Given the description of an element on the screen output the (x, y) to click on. 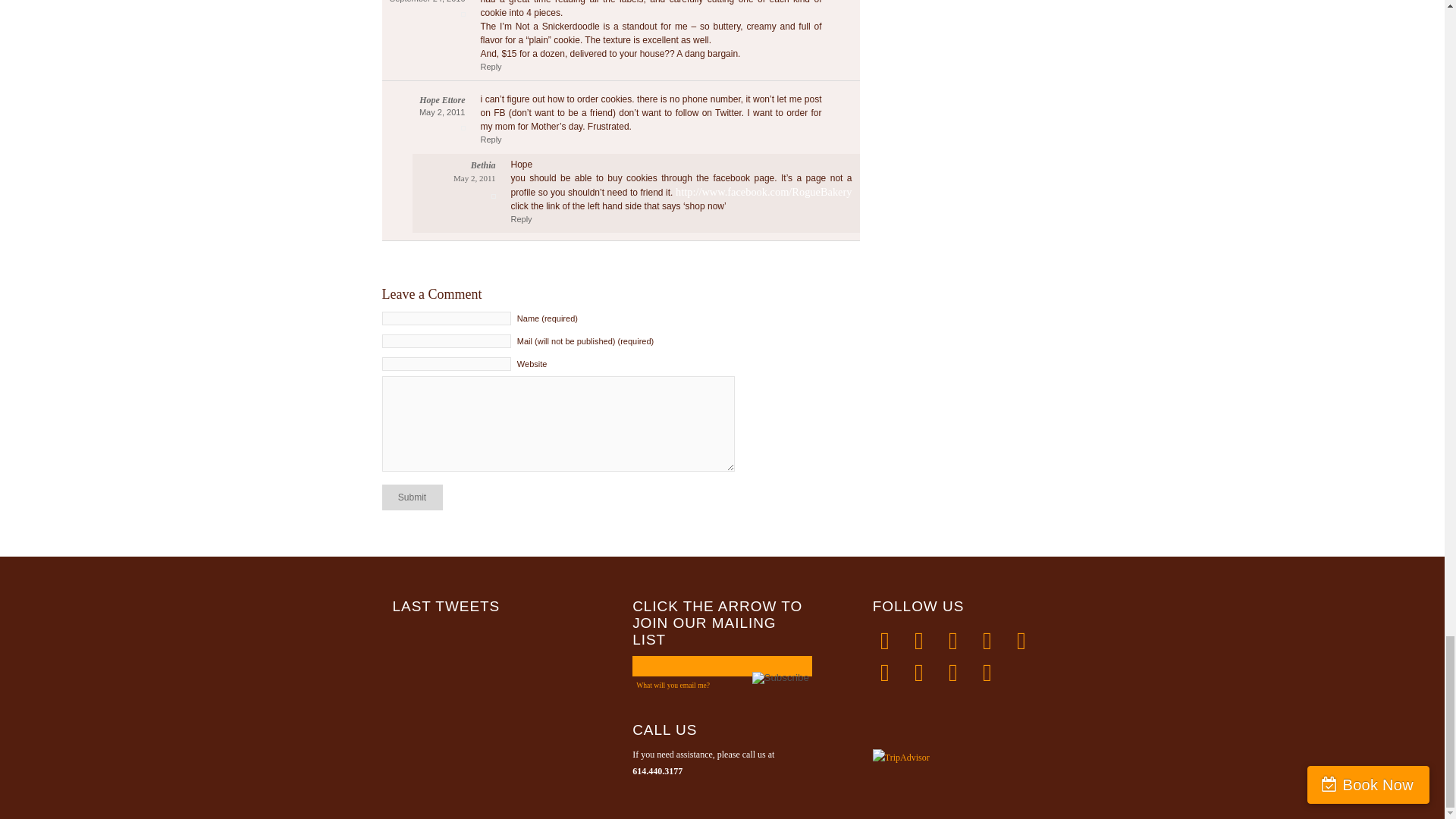
Submit (411, 497)
Subscribe (780, 677)
